Given the description of an element on the screen output the (x, y) to click on. 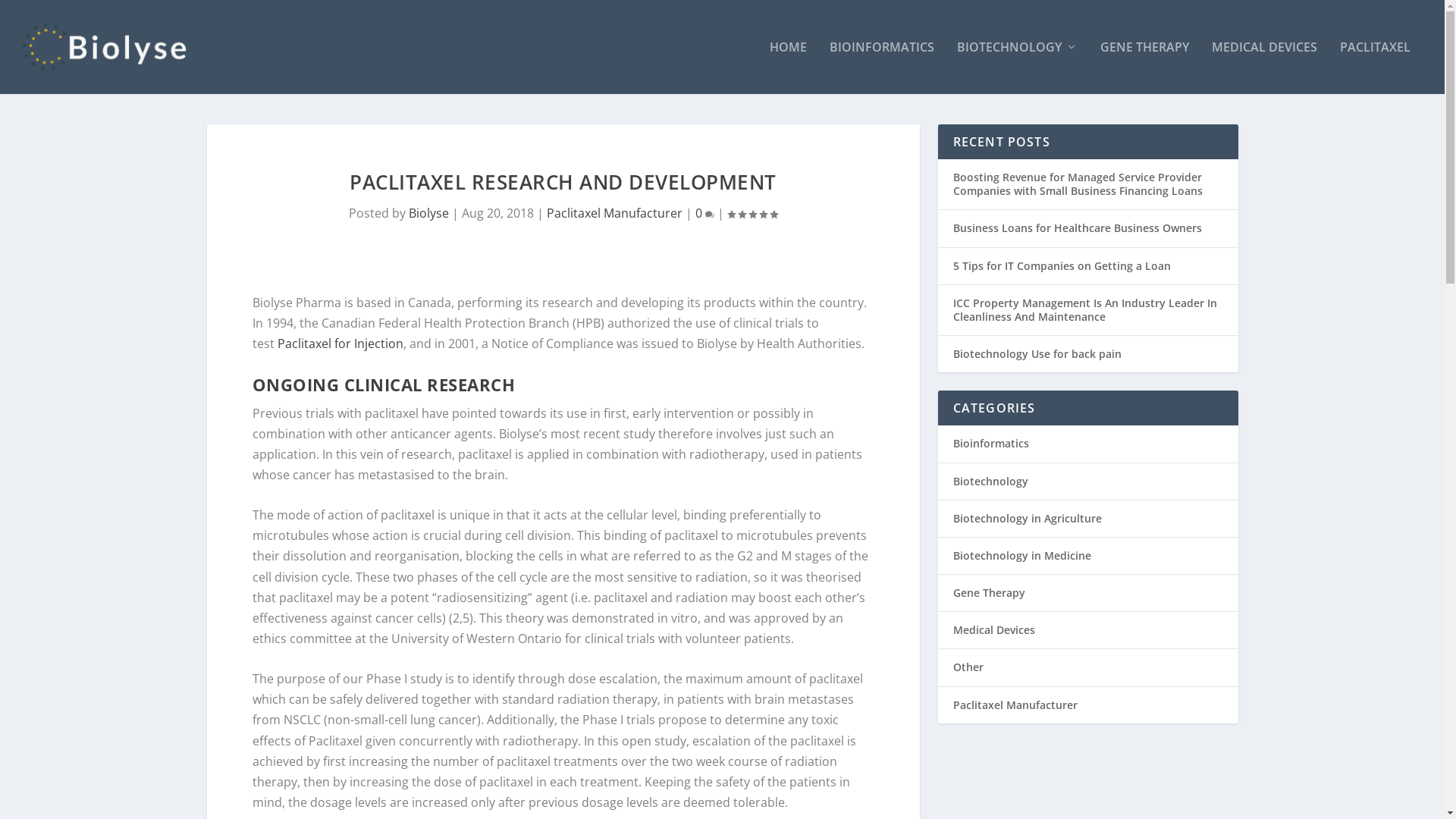
Biotechnology Element type: text (989, 480)
Biotechnology Use for back pain Element type: text (1036, 353)
Biotechnology in Agriculture Element type: text (1026, 518)
PACLITAXEL Element type: text (1374, 67)
Biolyse Element type: text (428, 212)
MEDICAL DEVICES Element type: text (1264, 67)
Gene Therapy Element type: text (988, 592)
BIOINFORMATICS Element type: text (881, 67)
Paclitaxel Manufacturer Element type: text (614, 212)
Biotechnology in Medicine Element type: text (1021, 555)
BIOTECHNOLOGY Element type: text (1017, 67)
Rating: 5.00 Element type: hover (752, 213)
0 Element type: text (704, 212)
Other Element type: text (967, 666)
5 Tips for IT Companies on Getting a Loan Element type: text (1061, 265)
Medical Devices Element type: text (993, 629)
Business Loans for Healthcare Business Owners Element type: text (1076, 227)
GENE THERAPY Element type: text (1144, 67)
Paclitaxel for Injection Element type: text (340, 343)
comment count Element type: hover (709, 214)
Bioinformatics Element type: text (990, 443)
Paclitaxel Manufacturer Element type: text (1014, 704)
HOME Element type: text (787, 67)
